Given the description of an element on the screen output the (x, y) to click on. 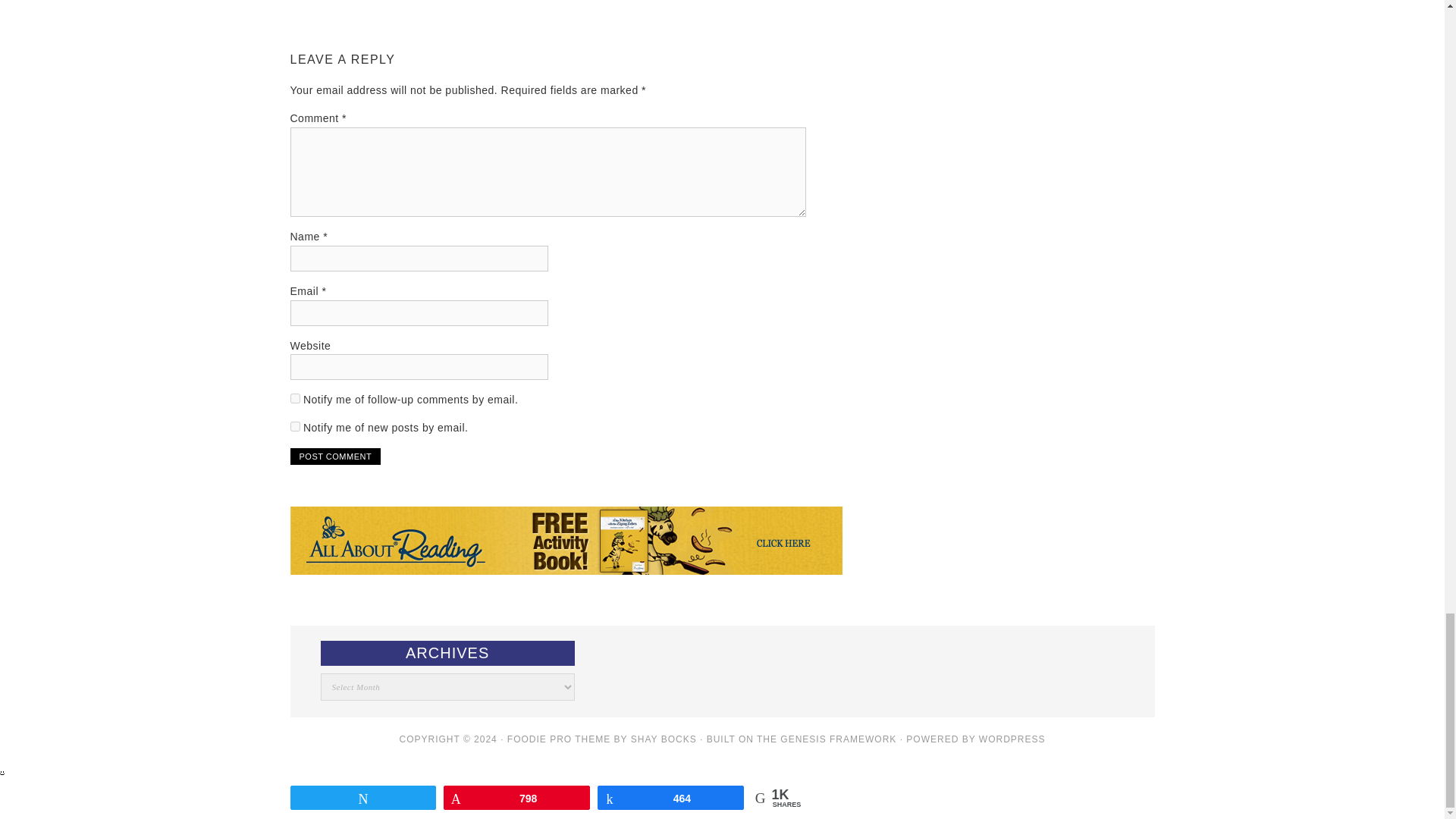
subscribe (294, 426)
Post Comment (334, 456)
Post Comment (334, 456)
subscribe (294, 398)
